Given the description of an element on the screen output the (x, y) to click on. 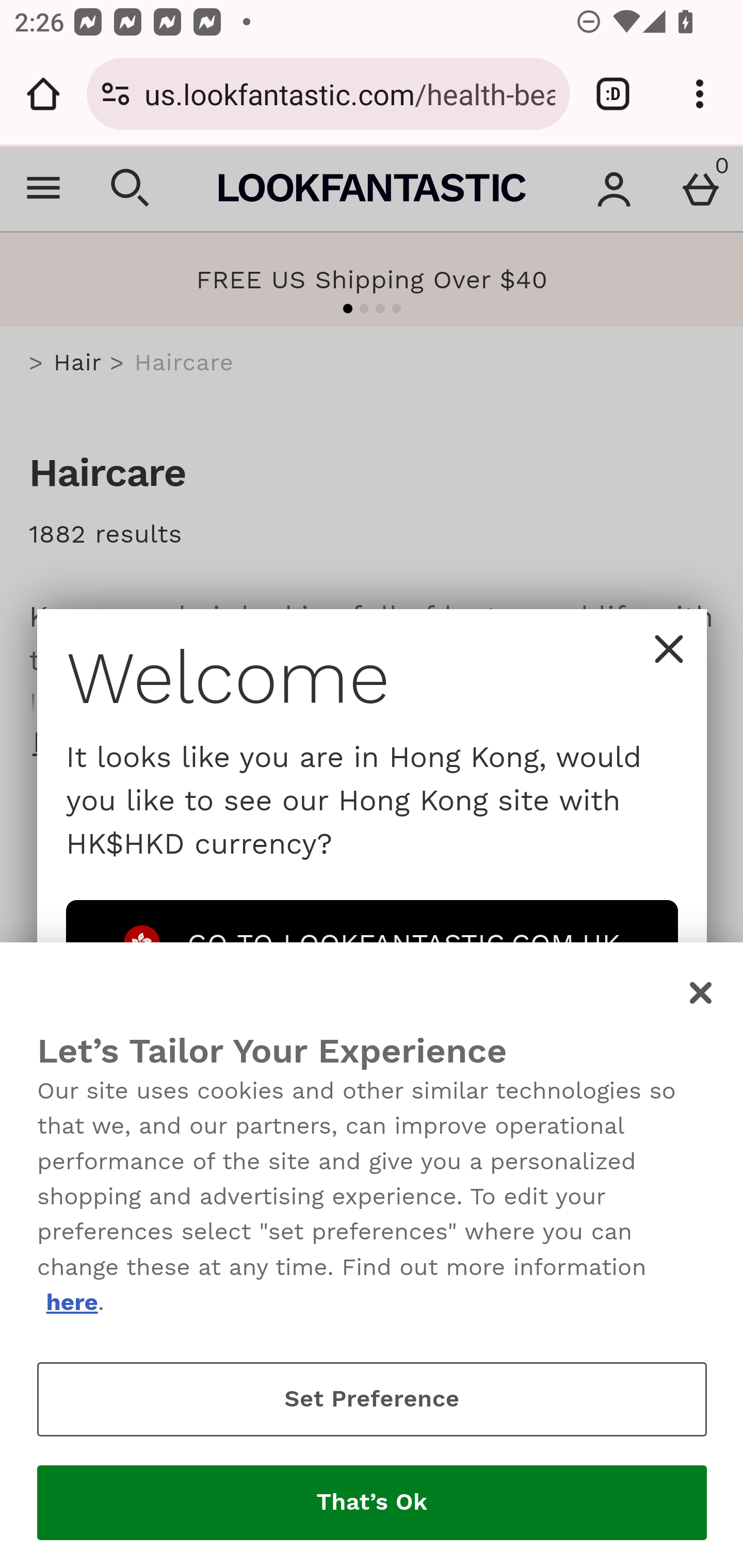
Open the home page (43, 93)
Connection is secure (115, 93)
Switch or close tabs (612, 93)
Customize and control Google Chrome (699, 93)
Close (669, 648)
Sort by (200, 848)
Close (701, 992)
Christophe Robin (348, 1043)
serums and masks (285, 1165)
here (71, 1302)
Set Preference (372, 1399)
That’s Ok (372, 1502)
